Given the description of an element on the screen output the (x, y) to click on. 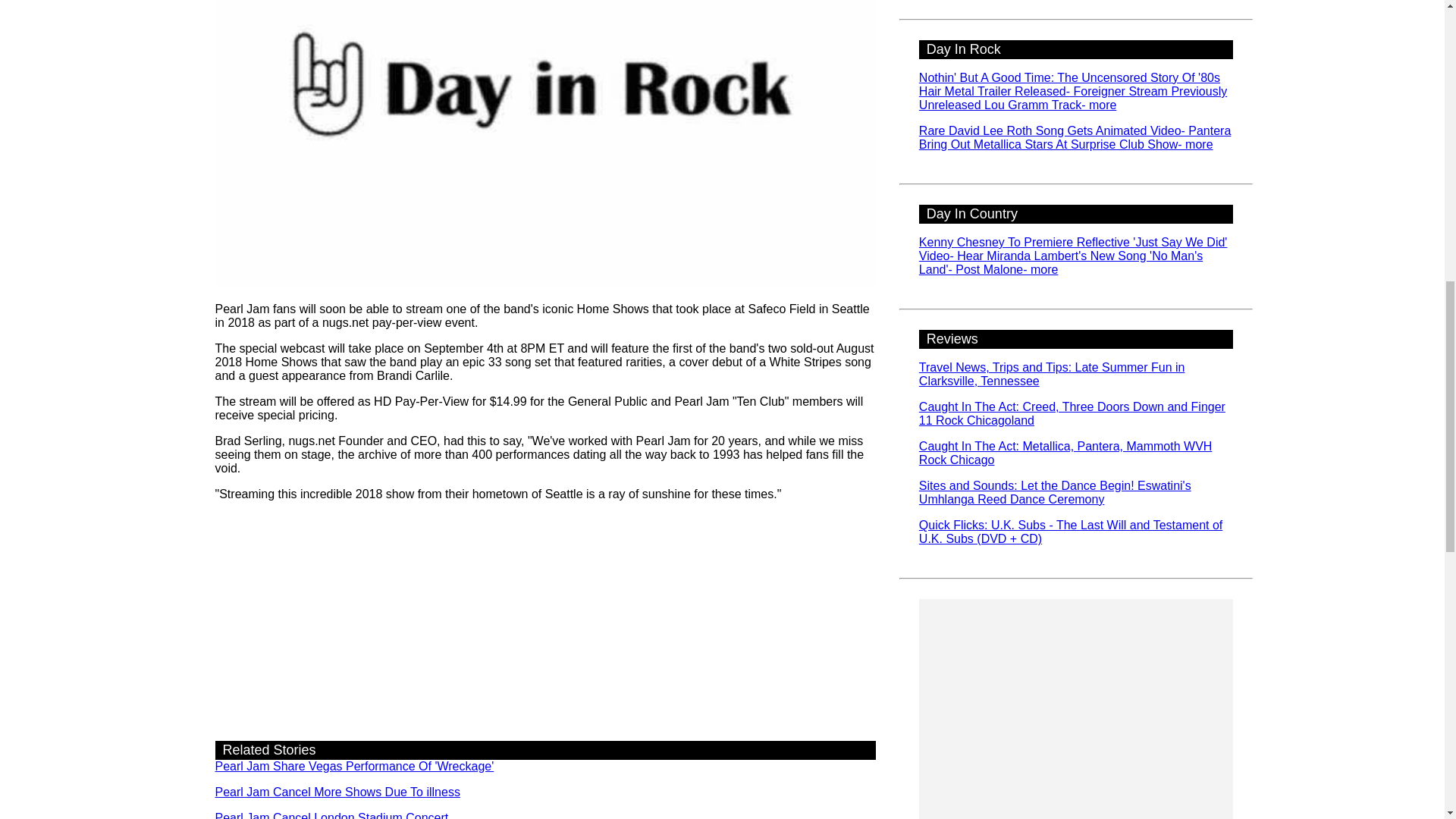
Pearl Jam Cancel London Stadium Concert (331, 815)
Pearl Jam Cancel More Shows Due To illness (337, 791)
Pearl Jam Share Vegas Performance Of 'Wreckage' (355, 766)
